Given the description of an element on the screen output the (x, y) to click on. 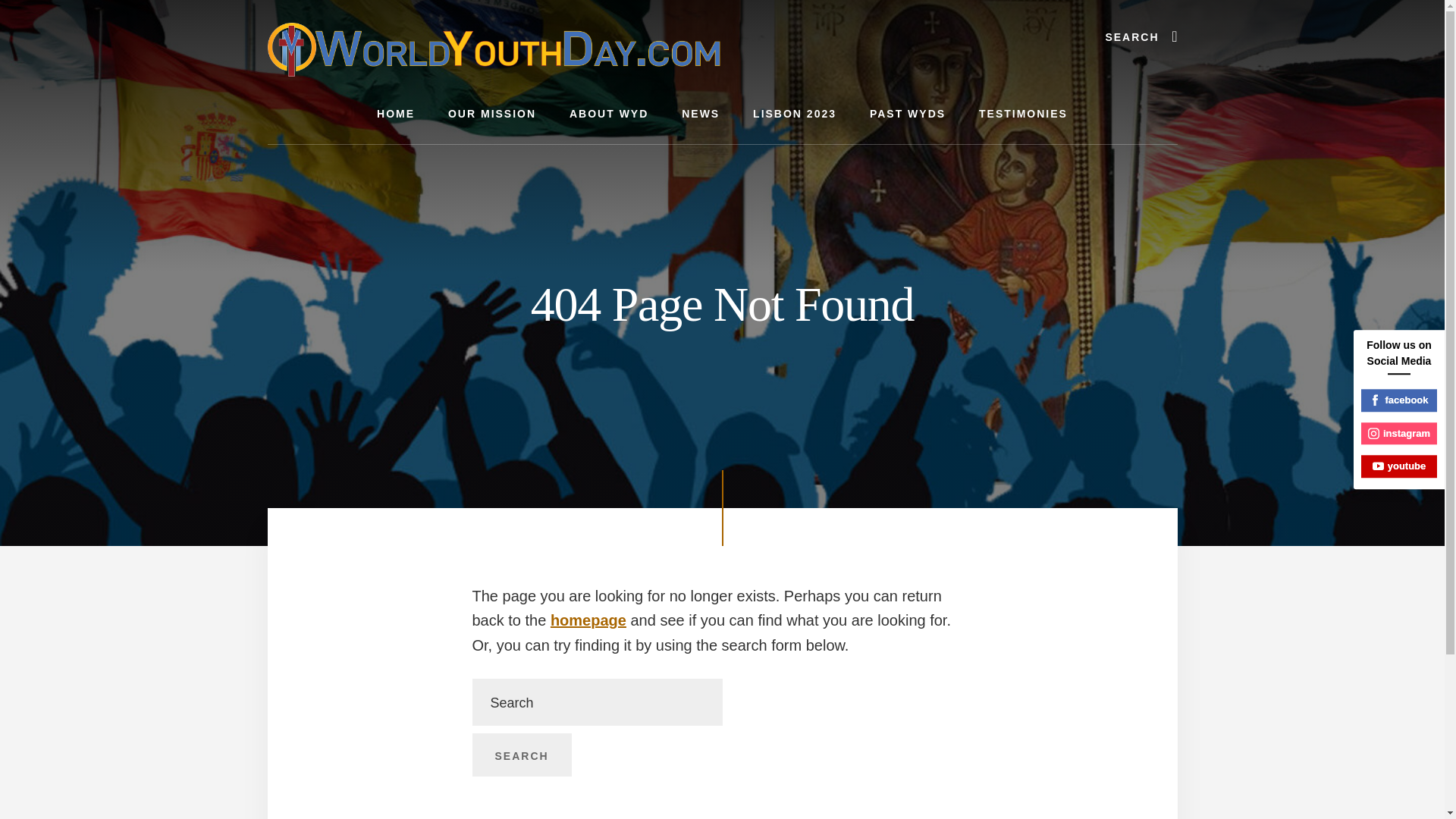
OUR MISSION (491, 114)
TESTIMONIES (1023, 114)
PAST WYDS (907, 114)
homepage (588, 619)
Search (520, 755)
ABOUT WYD (608, 114)
youtube (1399, 466)
Search (520, 755)
LISBON 2023 (794, 114)
Search (520, 755)
NEWS (700, 114)
